Given the description of an element on the screen output the (x, y) to click on. 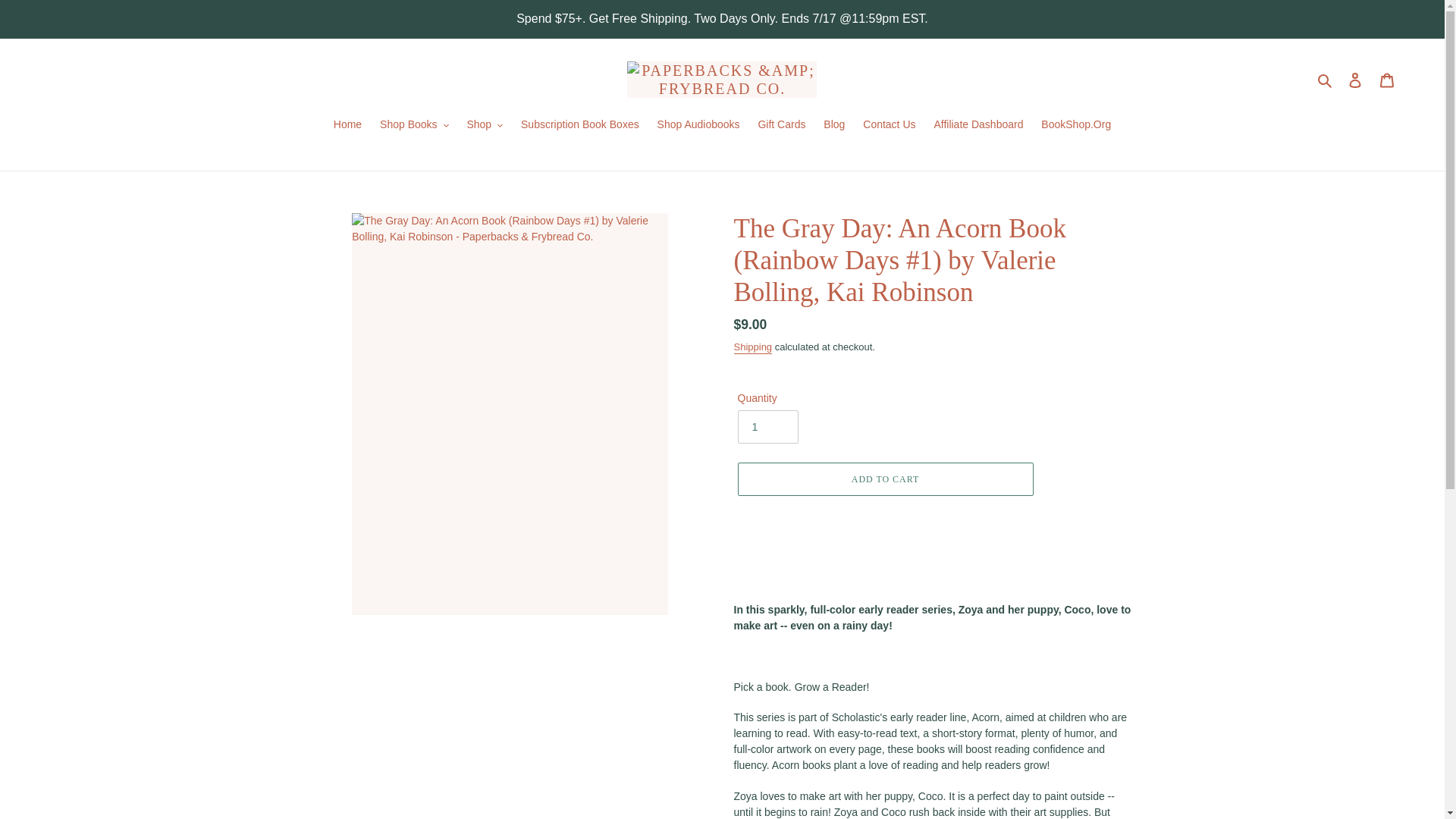
1 (766, 426)
Cart (1387, 79)
Search (1326, 78)
Log in (1355, 79)
